Given the description of an element on the screen output the (x, y) to click on. 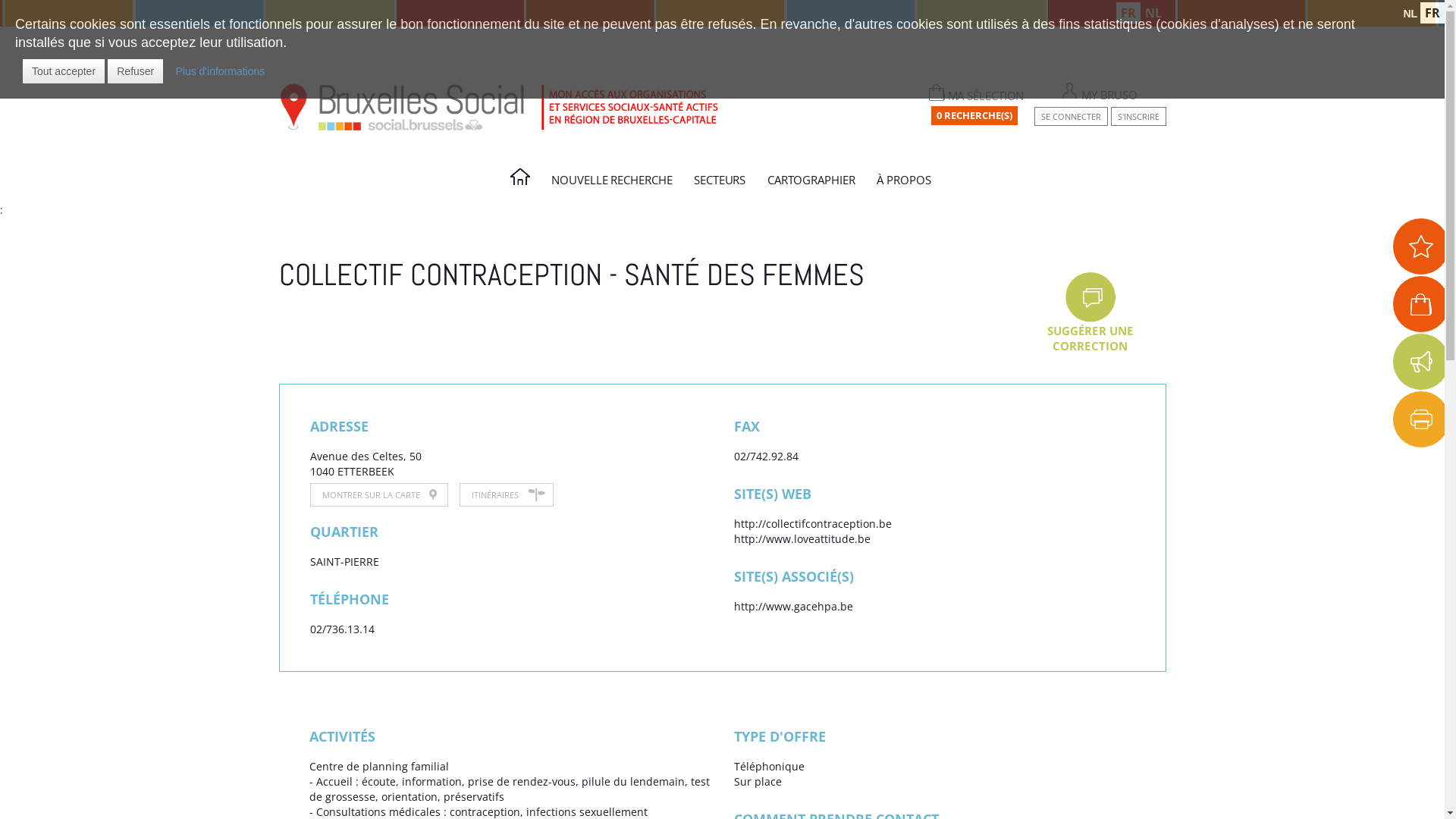
NL Element type: text (1409, 13)
Tout accepter Element type: text (63, 71)
Plus d'informations Element type: text (219, 71)
SECTEURS Element type: text (721, 183)
NOUVELLE RECHERCHE Element type: text (613, 183)
0 RECHERCHE(S) Element type: text (974, 115)
S'INSCRIRE Element type: text (1137, 115)
http://www.gacehpa.be Element type: text (793, 606)
http://www.loveattitude.be Element type: text (802, 538)
NL Element type: text (1153, 12)
http://collectifcontraception.be Element type: text (812, 523)
CARTOGRAPHIER Element type: text (812, 183)
MONTRER SUR LA CARTE  Element type: text (378, 494)
Refuser Element type: text (135, 71)
SE CONNECTER Element type: text (1070, 115)
